Given the description of an element on the screen output the (x, y) to click on. 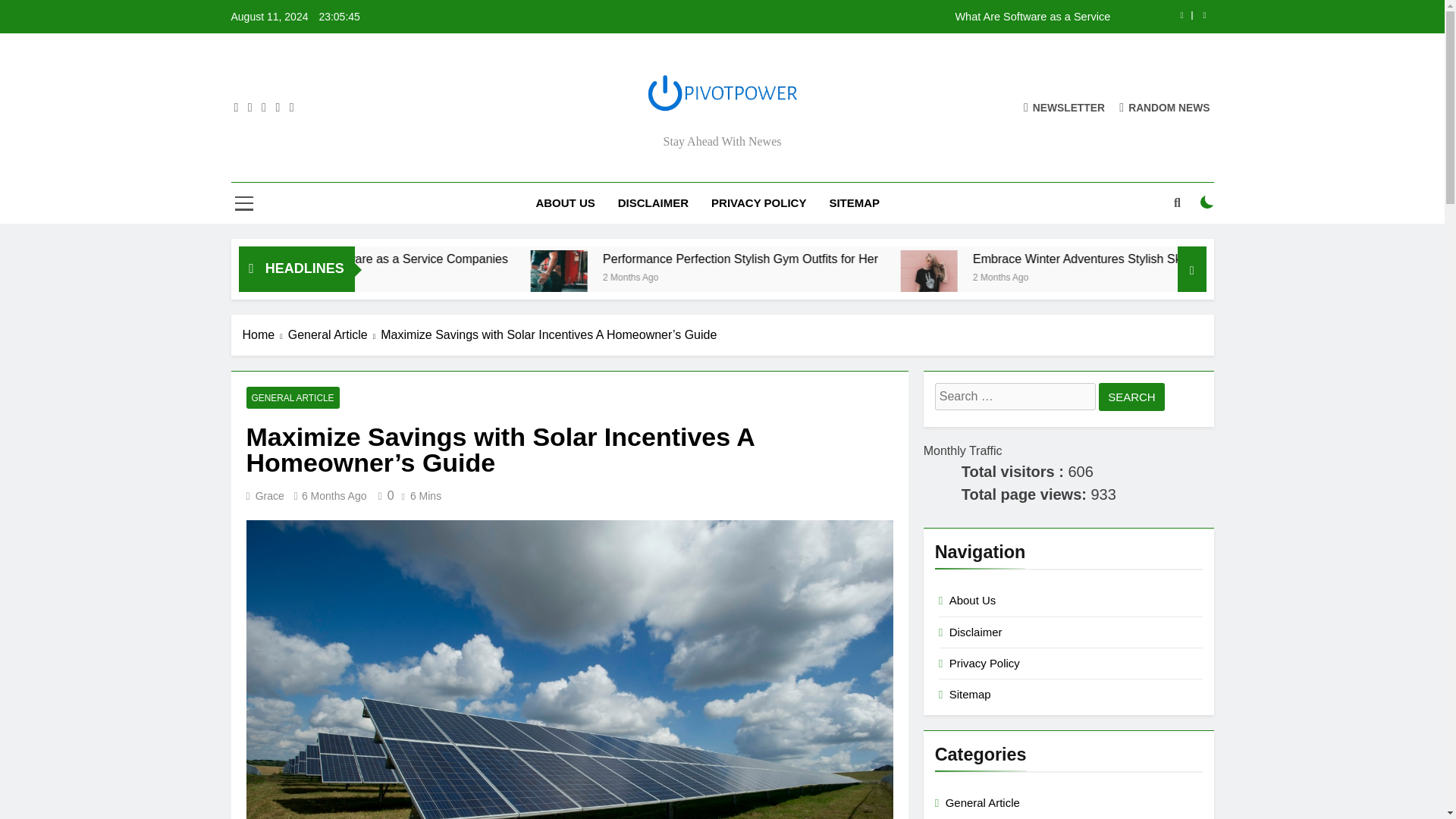
What Are Software as a Service Companies (400, 278)
4 Weeks Ago (535, 276)
NEWSLETTER (1064, 106)
DISCLAIMER (653, 202)
What Are Software as a Service Companies (630, 258)
ABOUT US (564, 202)
on (1206, 202)
Search (1131, 397)
PRIVACY POLICY (758, 202)
What Are Software as a Service Companies (550, 258)
